Given the description of an element on the screen output the (x, y) to click on. 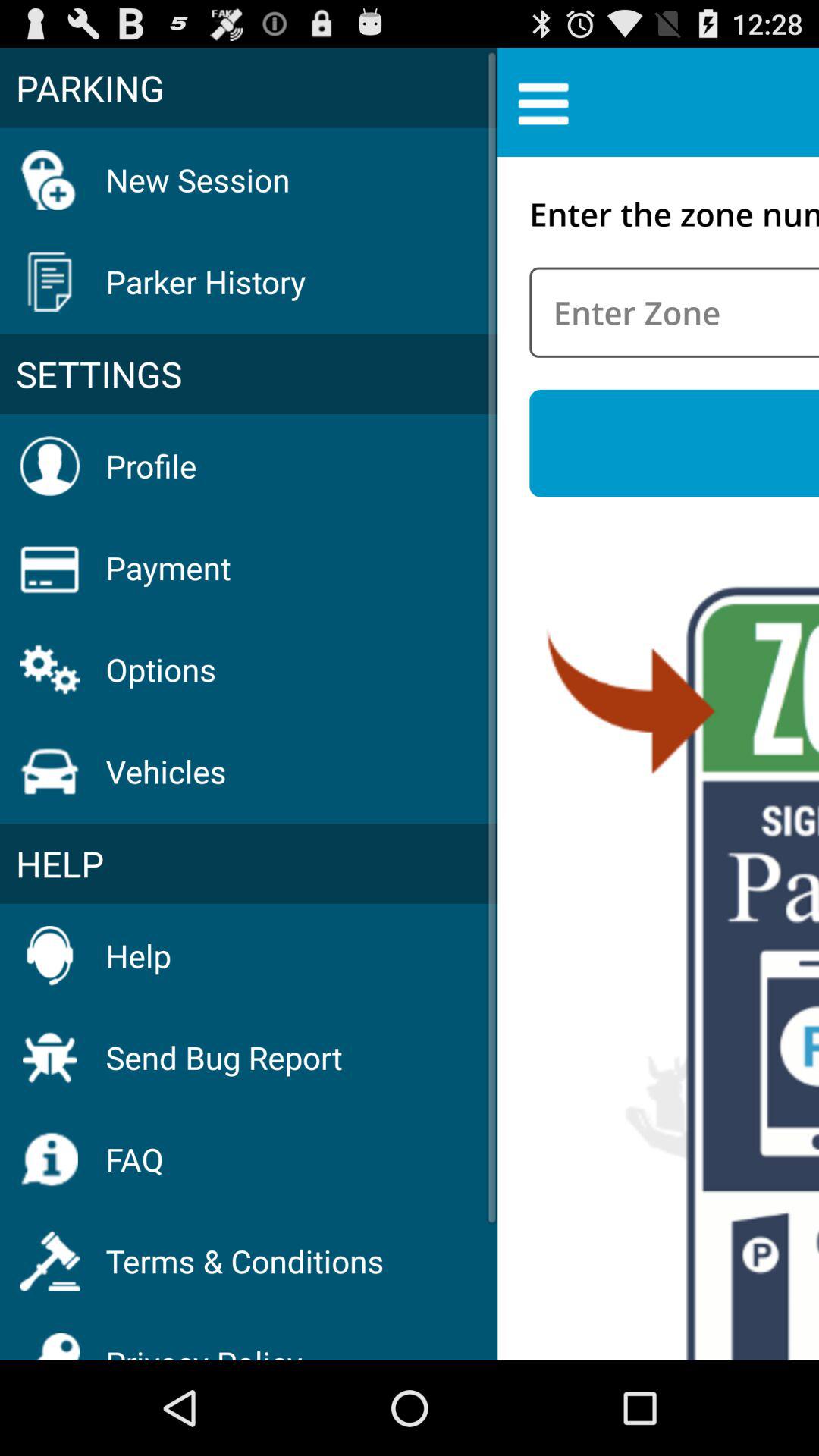
flip to the settings icon (248, 373)
